Given the description of an element on the screen output the (x, y) to click on. 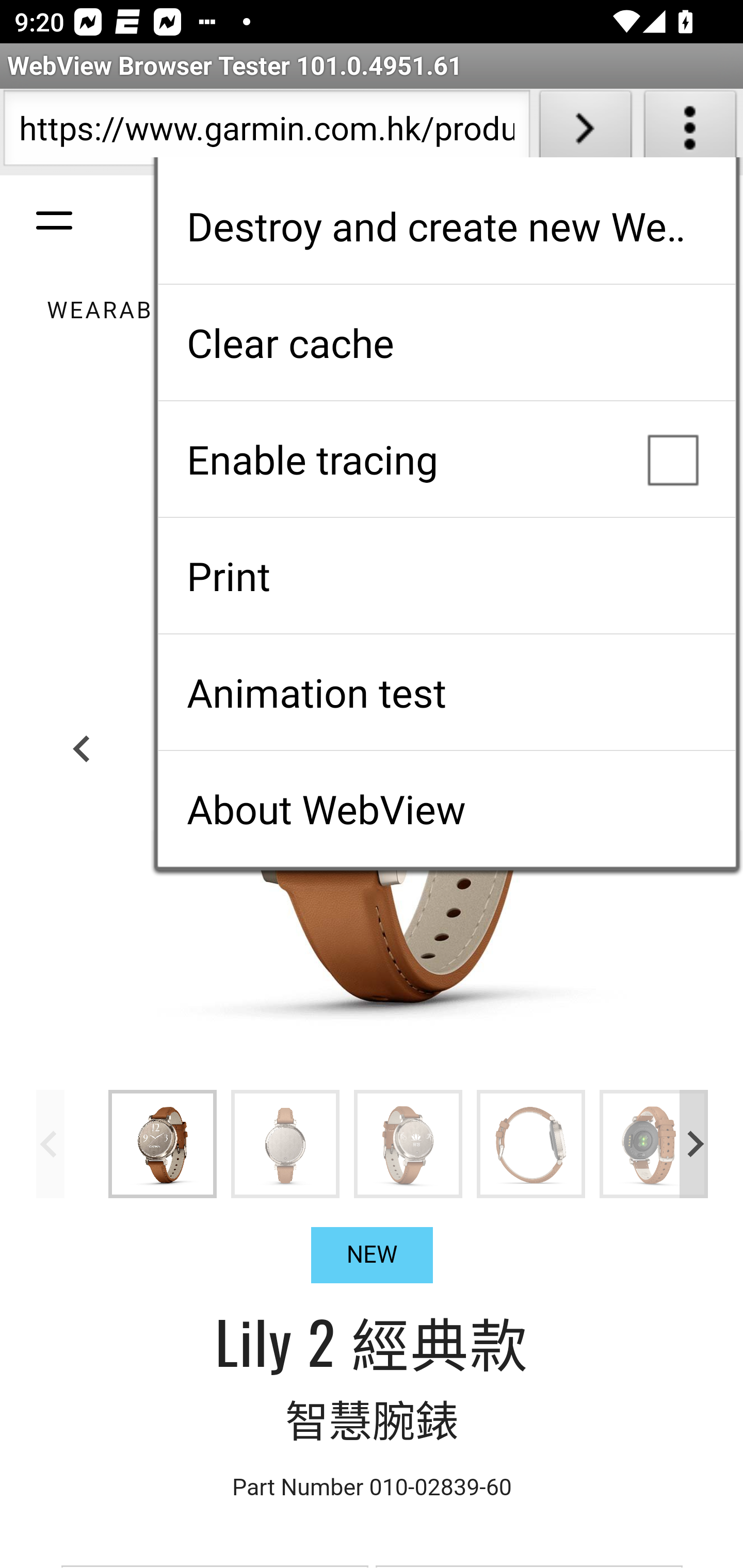
Destroy and create new WebView (446, 225)
Clear cache (446, 342)
Enable tracing (446, 459)
Print (446, 575)
Animation test (446, 692)
About WebView (446, 809)
